Given the description of an element on the screen output the (x, y) to click on. 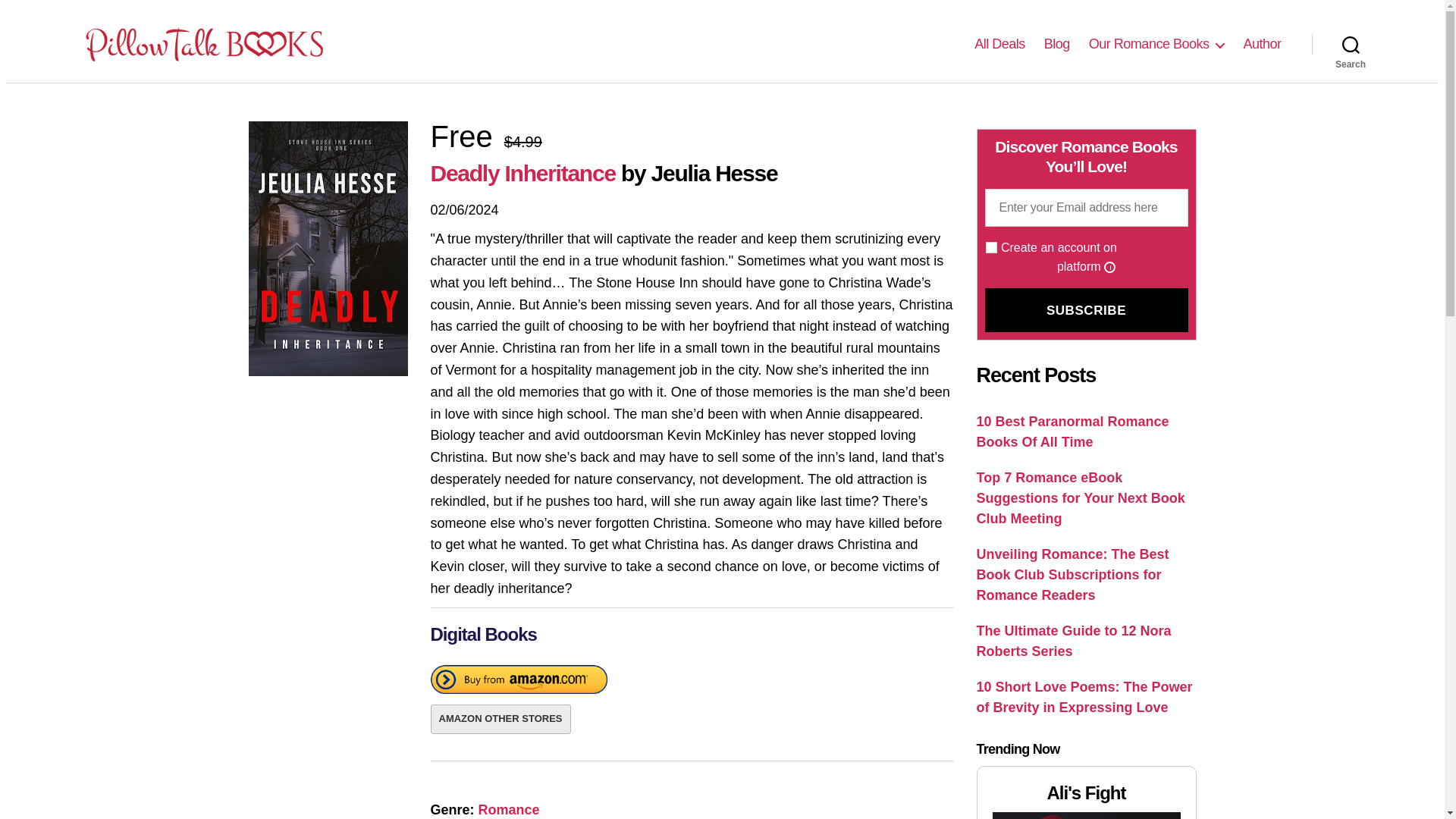
Subscribe (1086, 310)
Our Romance Books (1156, 44)
Amazon (518, 683)
Search (1350, 43)
All Deals (999, 44)
true (991, 247)
Ali's Fight (1085, 815)
Blog (1056, 44)
Author (1262, 44)
